Given the description of an element on the screen output the (x, y) to click on. 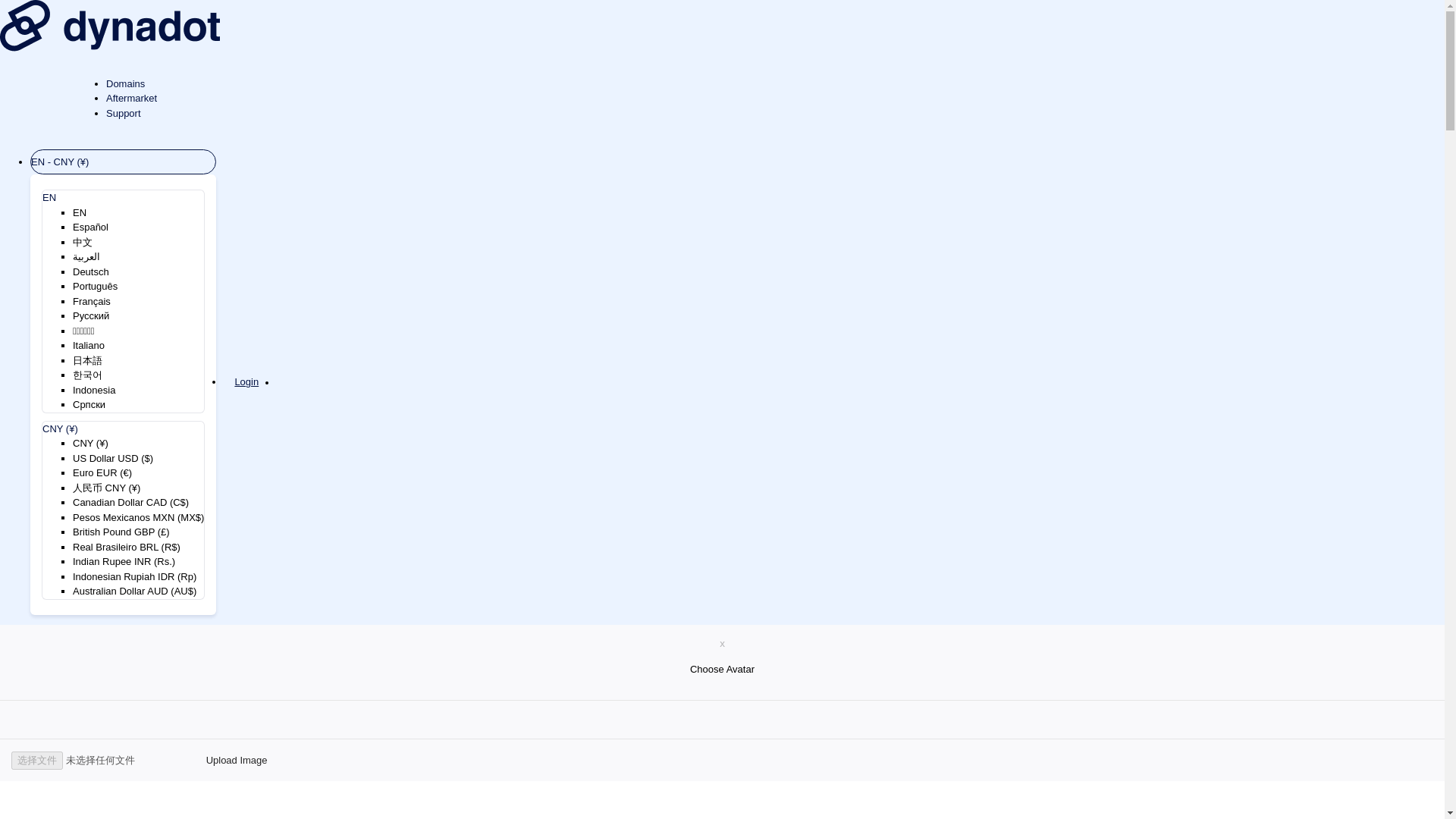
Support   (126, 112)
Aftermarket   (133, 98)
Domains   (128, 82)
Login (246, 381)
x (721, 643)
